Given the description of an element on the screen output the (x, y) to click on. 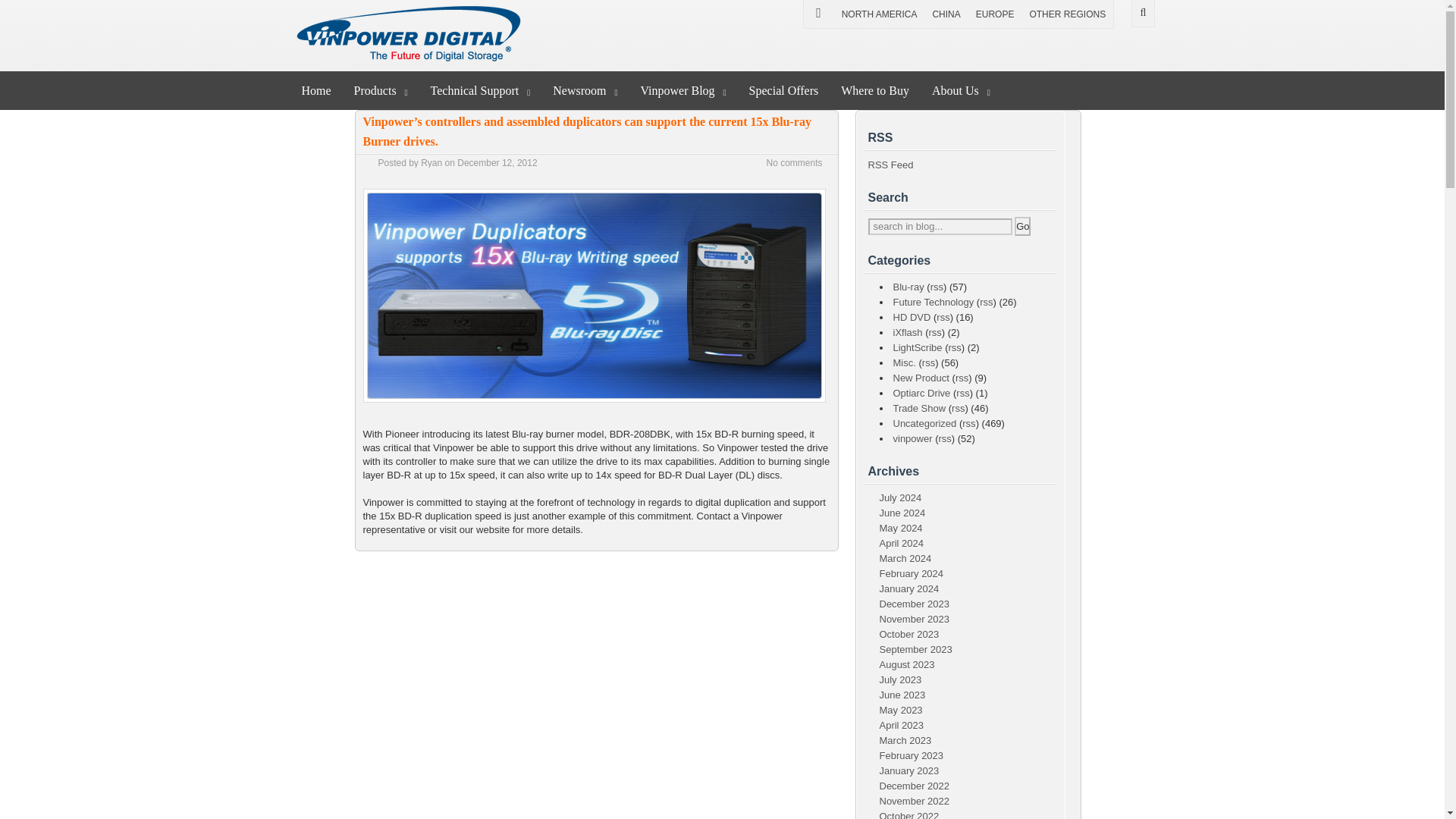
search in blog... (939, 226)
15x-bd-support.jpg (593, 406)
Home (315, 90)
Products (380, 90)
RSS Feed (889, 164)
